Given the description of an element on the screen output the (x, y) to click on. 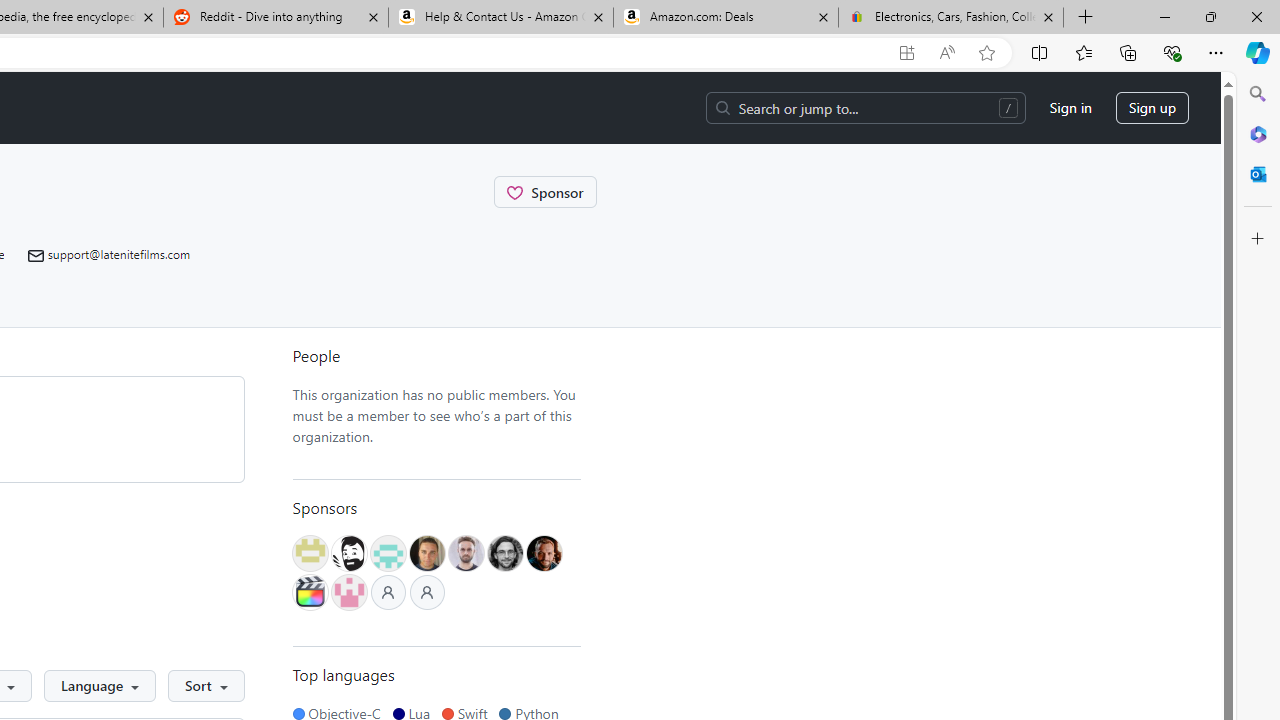
@davvidavvi (543, 552)
Reddit - Dive into anything (275, 17)
support@latenitefilms.com (118, 254)
@lamer40 (427, 552)
@thermidorthelobster (349, 592)
Private Sponsor (426, 592)
@florian-duffe (504, 552)
support@latenitefilms.com (109, 254)
